Given the description of an element on the screen output the (x, y) to click on. 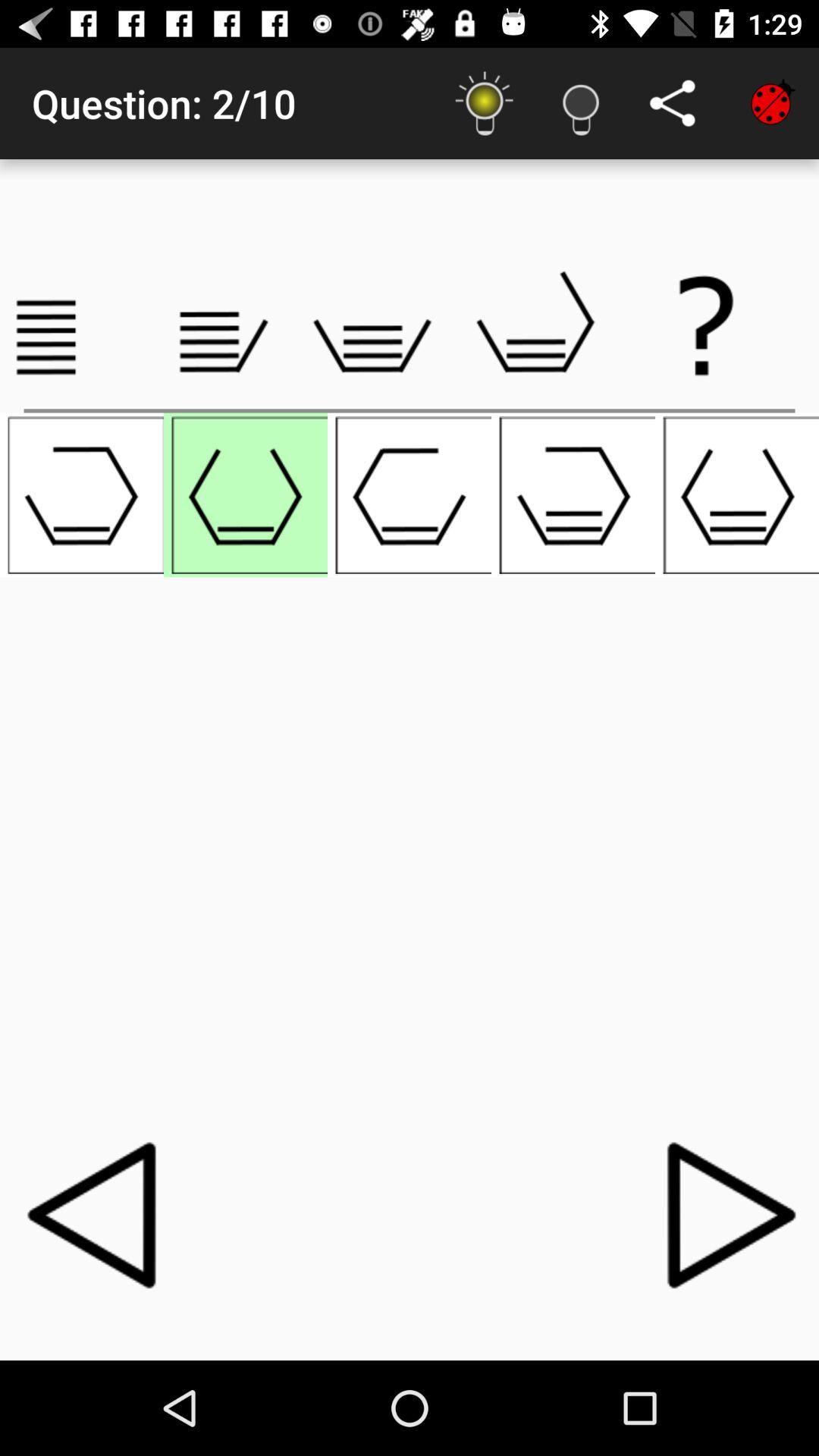
press item to the right of question: 2/10 app (484, 103)
